Given the description of an element on the screen output the (x, y) to click on. 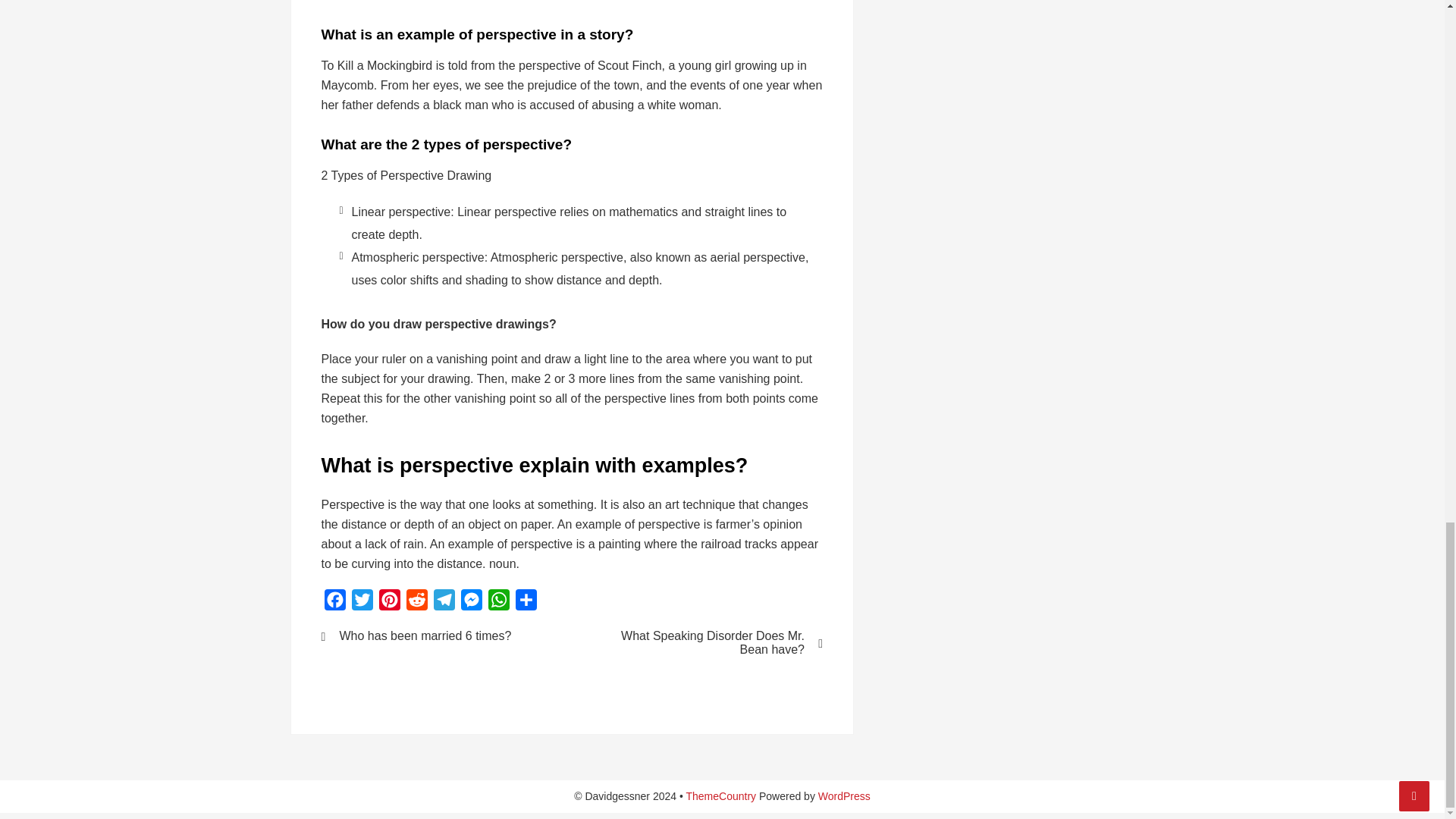
Facebook (335, 602)
Messenger (471, 602)
Facebook (335, 602)
Pinterest (389, 602)
Reddit (416, 602)
Pinterest (389, 602)
BasePress - The best free WordPress blog theme for WordPress (720, 796)
WhatsApp (498, 602)
WhatsApp (498, 602)
Telegram (444, 602)
